Given the description of an element on the screen output the (x, y) to click on. 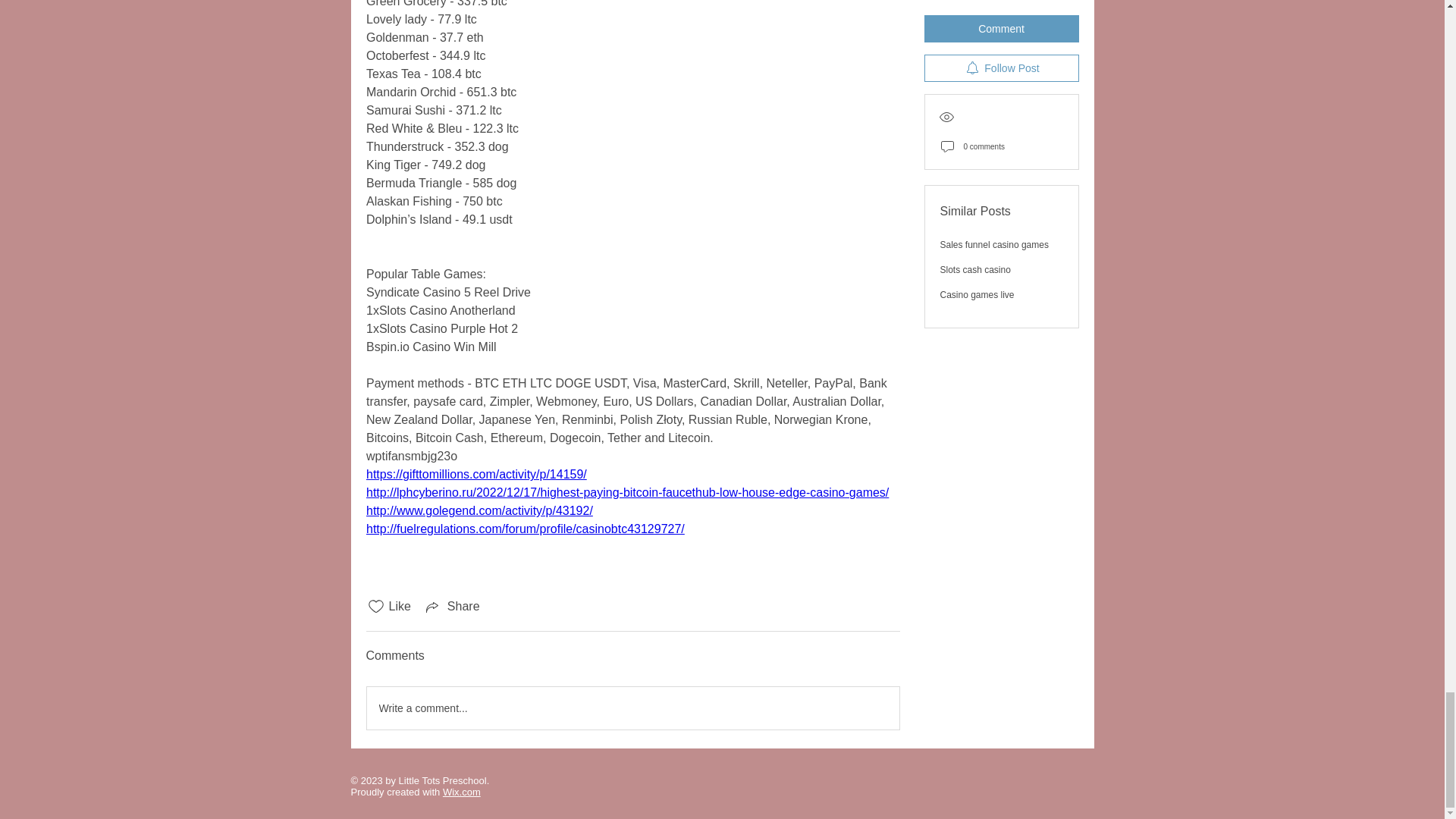
Wix.com (461, 791)
Share (451, 606)
Write a comment... (632, 708)
